Given the description of an element on the screen output the (x, y) to click on. 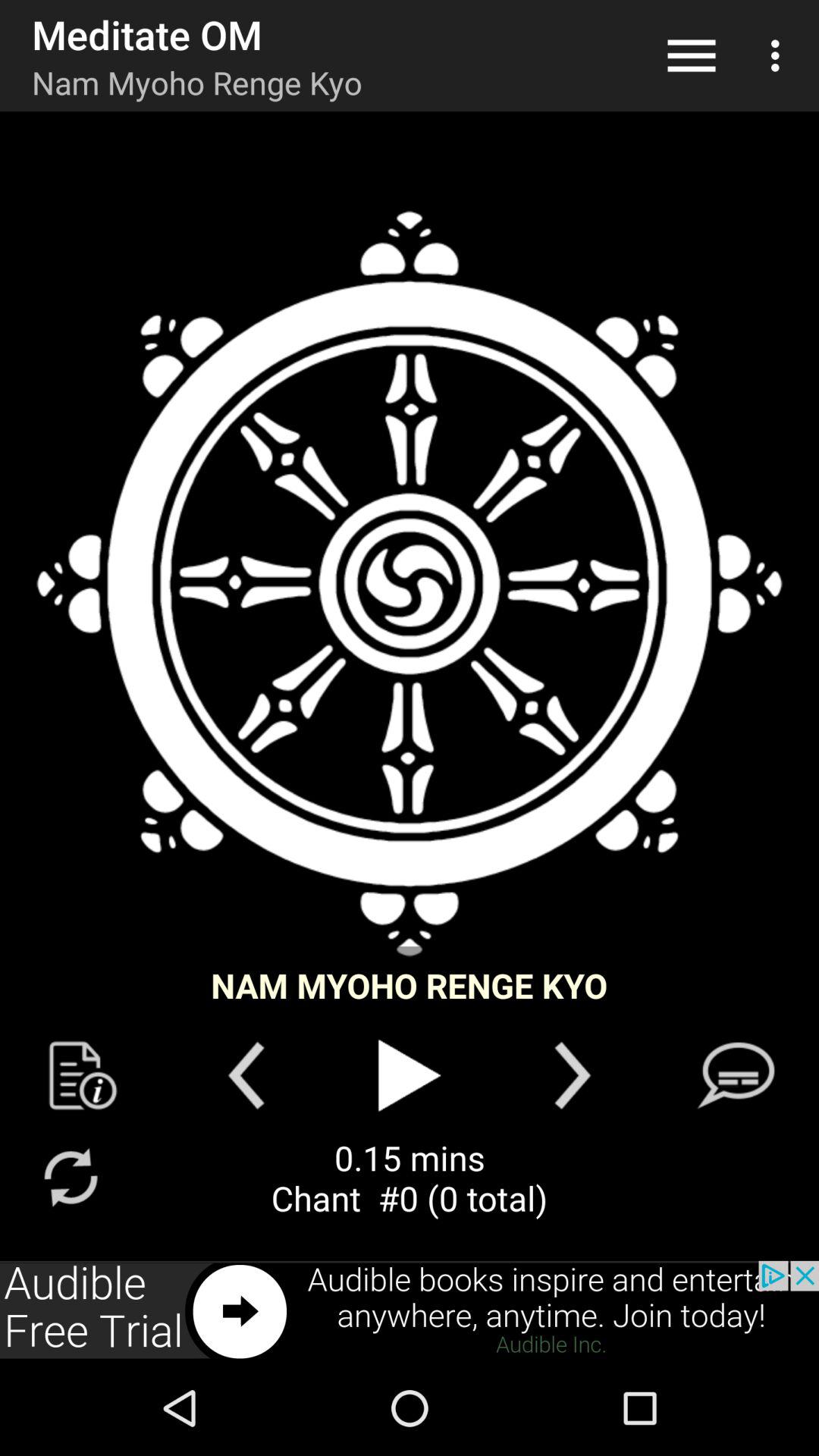
view the advertisement (409, 1310)
